Given the description of an element on the screen output the (x, y) to click on. 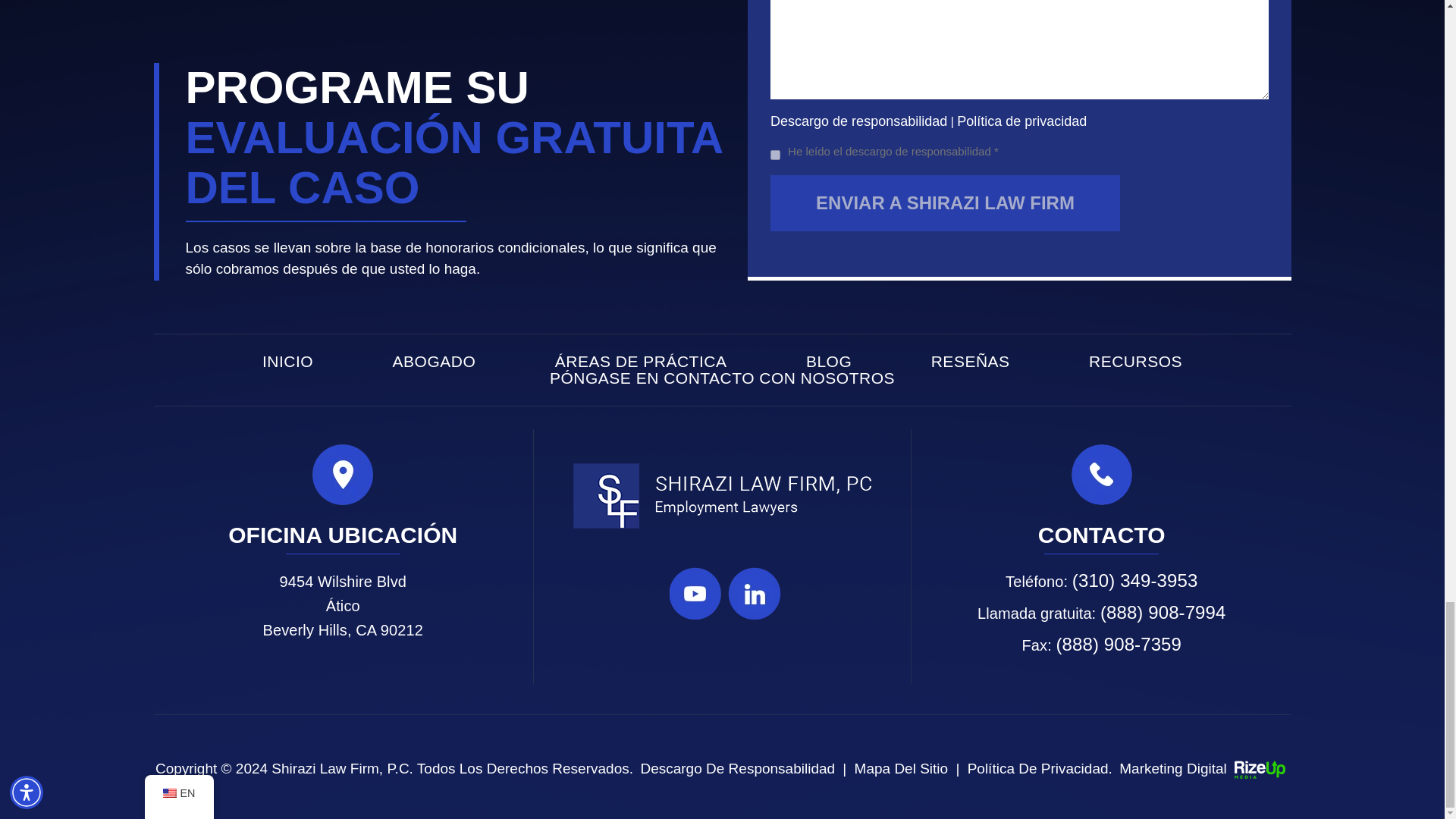
Enviar a Shirazi Law Firm (944, 202)
